Given the description of an element on the screen output the (x, y) to click on. 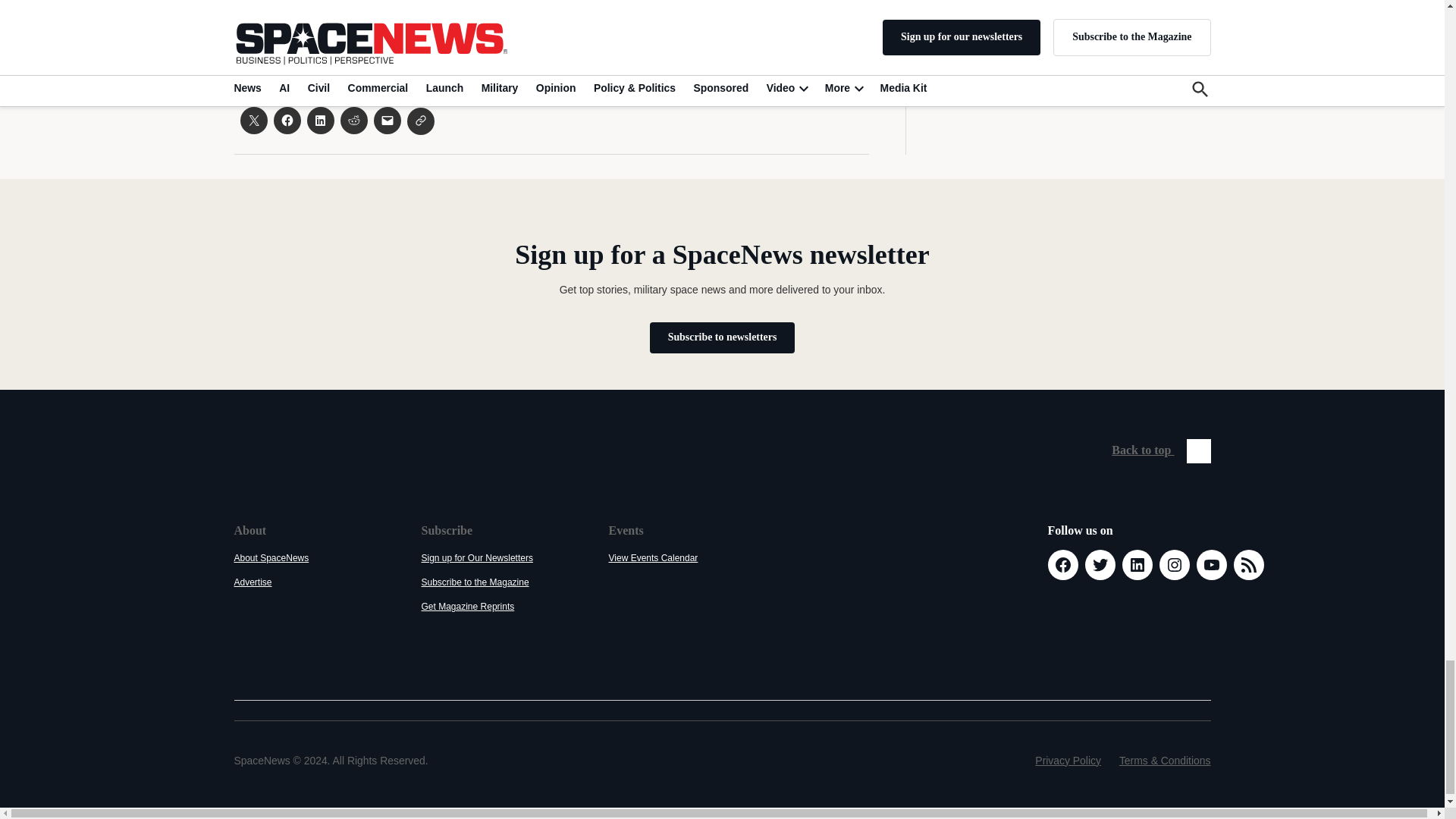
Click to share on Clipboard (419, 121)
Click to share on Facebook (286, 120)
Click to email a link to a friend (386, 120)
Click to share on Reddit (352, 120)
Click to share on X (253, 120)
Click to share on LinkedIn (319, 120)
